Given the description of an element on the screen output the (x, y) to click on. 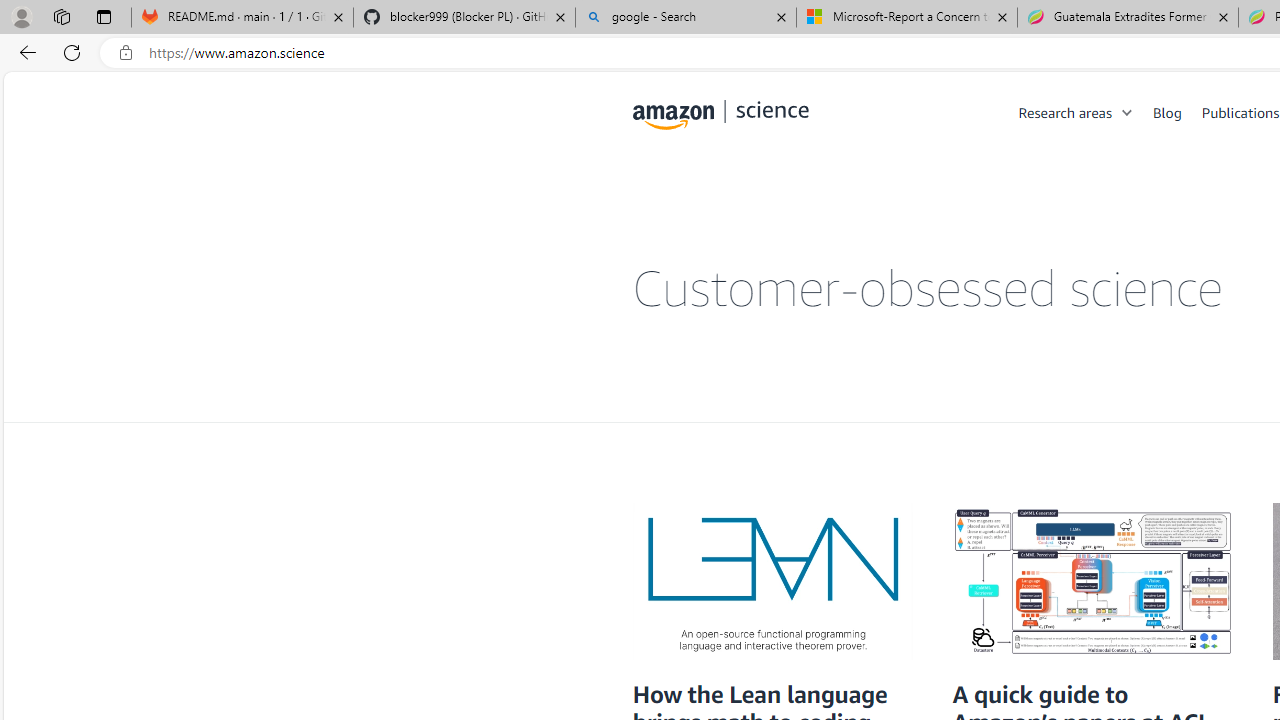
amazon-science-logo.svg (721, 115)
home page (721, 110)
Research areas (1085, 111)
Blog (1177, 111)
Blog (1167, 111)
Publications (1240, 111)
CAMML 16x9.png (1092, 581)
